Given the description of an element on the screen output the (x, y) to click on. 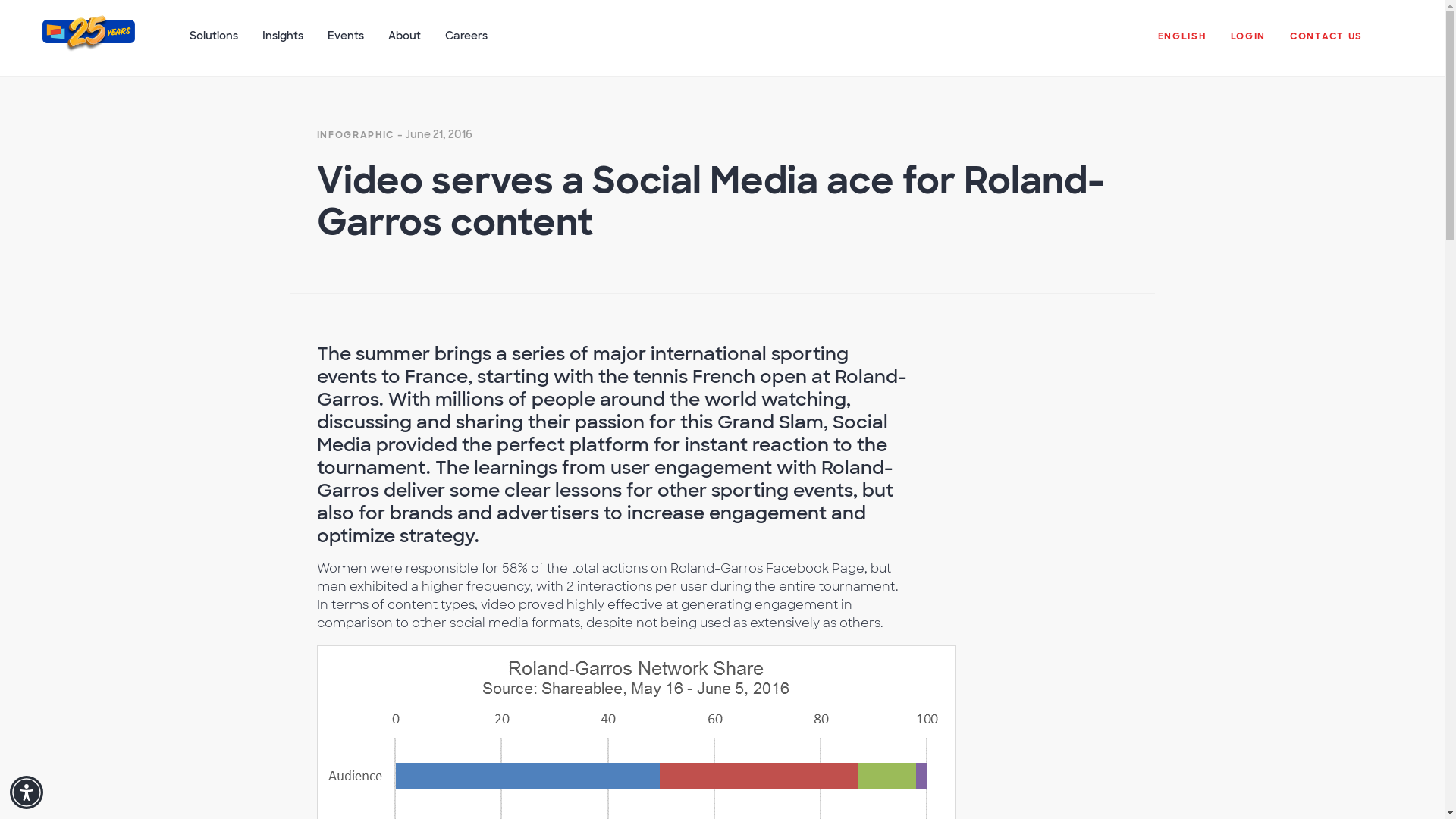
Solutions (213, 43)
Insights (282, 43)
Home (88, 44)
Events (345, 43)
About (403, 43)
Solutions (213, 43)
Accessibility Menu (26, 792)
